Given the description of an element on the screen output the (x, y) to click on. 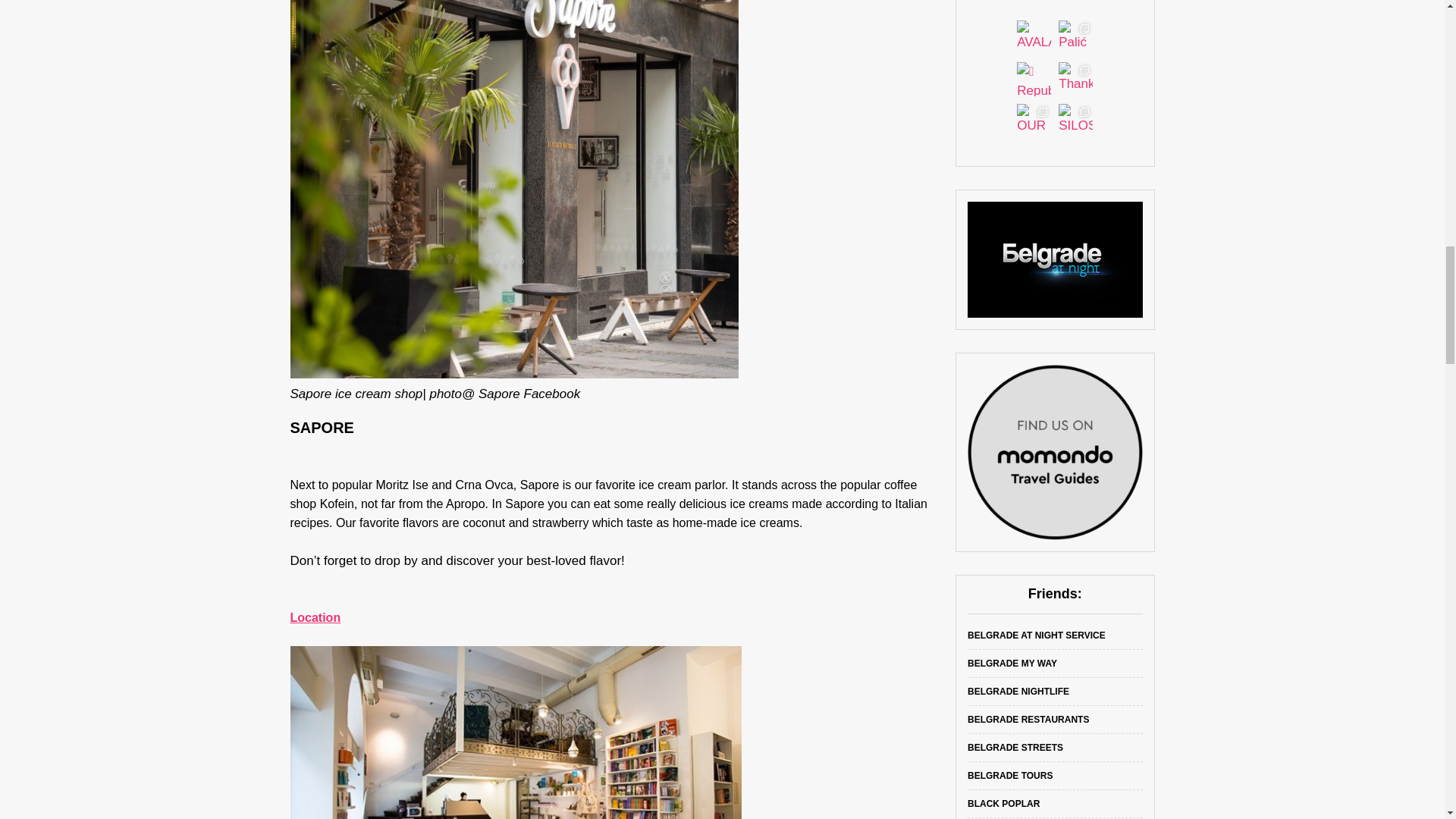
wiso portal (1055, 259)
